Given the description of an element on the screen output the (x, y) to click on. 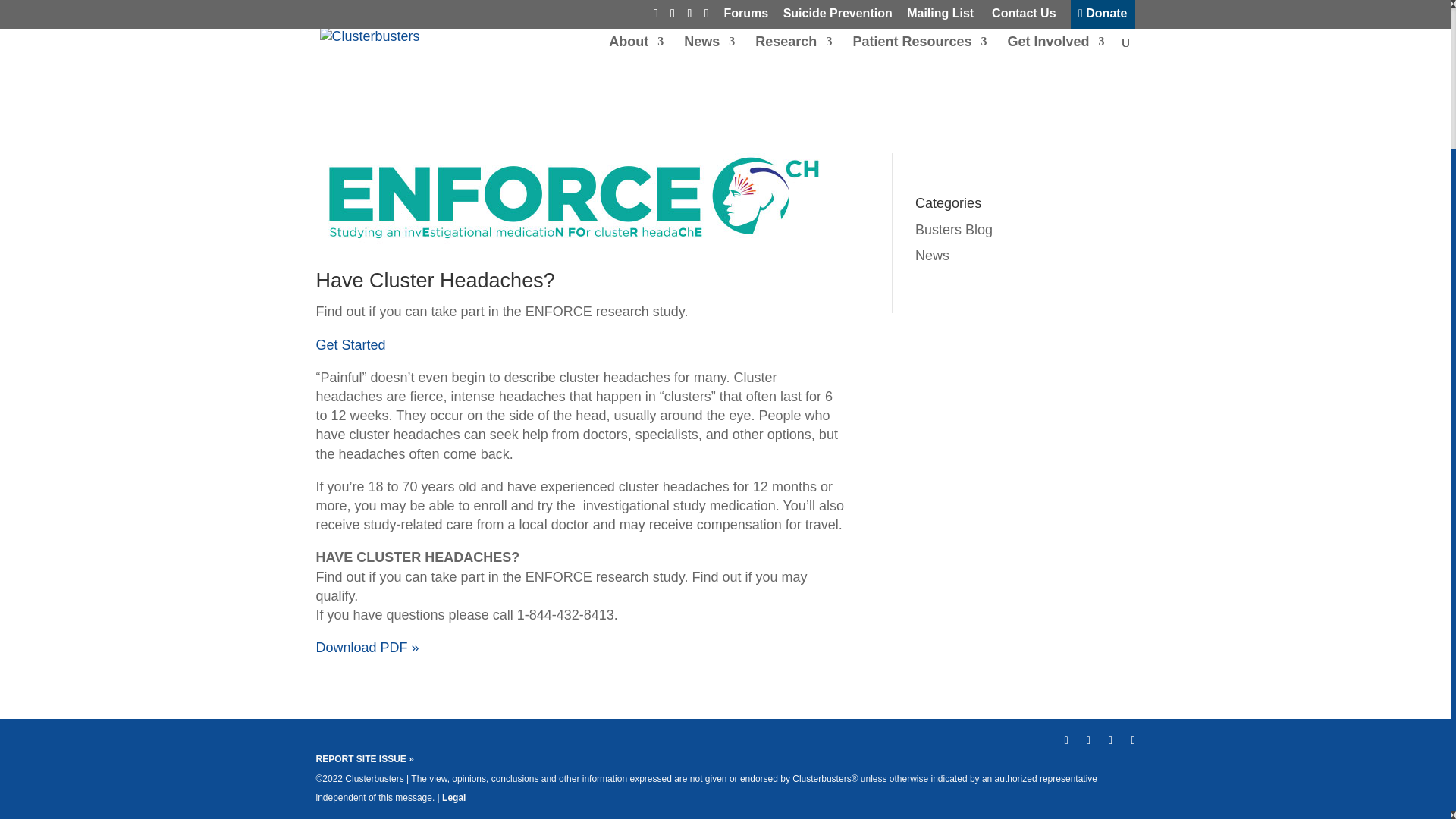
Posts by Bob Wold (363, 20)
